Given the description of an element on the screen output the (x, y) to click on. 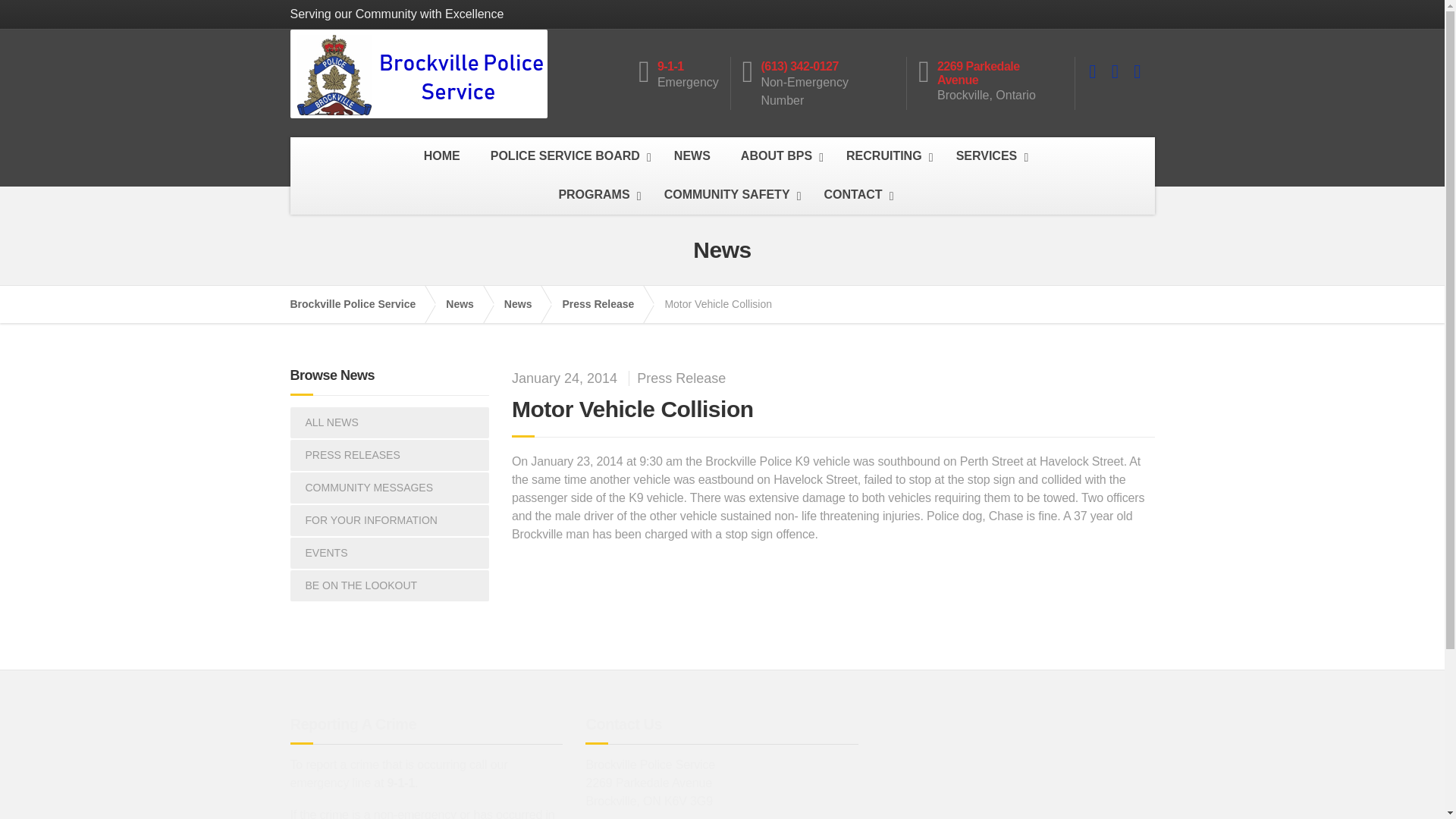
HOME (442, 156)
fa-instagram (1136, 70)
fa-facebook (1092, 70)
fa-twitter (1114, 70)
SERVICES (988, 156)
Contact (855, 195)
RECRUITING (885, 156)
POLICE SERVICE BOARD (567, 156)
NEWS (692, 156)
About BPS (778, 156)
